Given the description of an element on the screen output the (x, y) to click on. 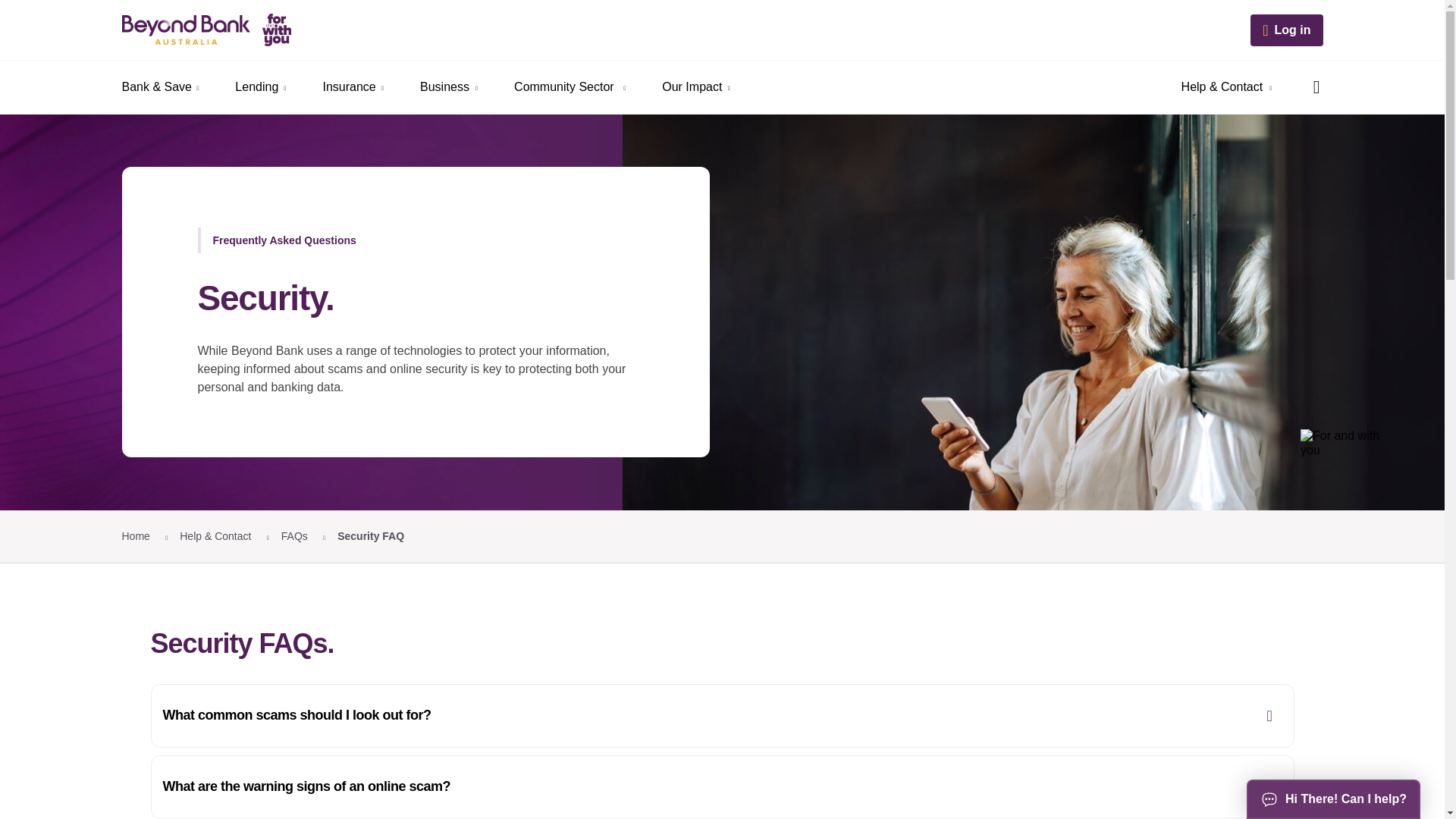
Log in (1286, 29)
  Hi There! Can I help? (1333, 799)
Lending (260, 87)
Our Impact (695, 87)
Business (448, 87)
Community Sector (569, 87)
Insurance (353, 87)
